Given the description of an element on the screen output the (x, y) to click on. 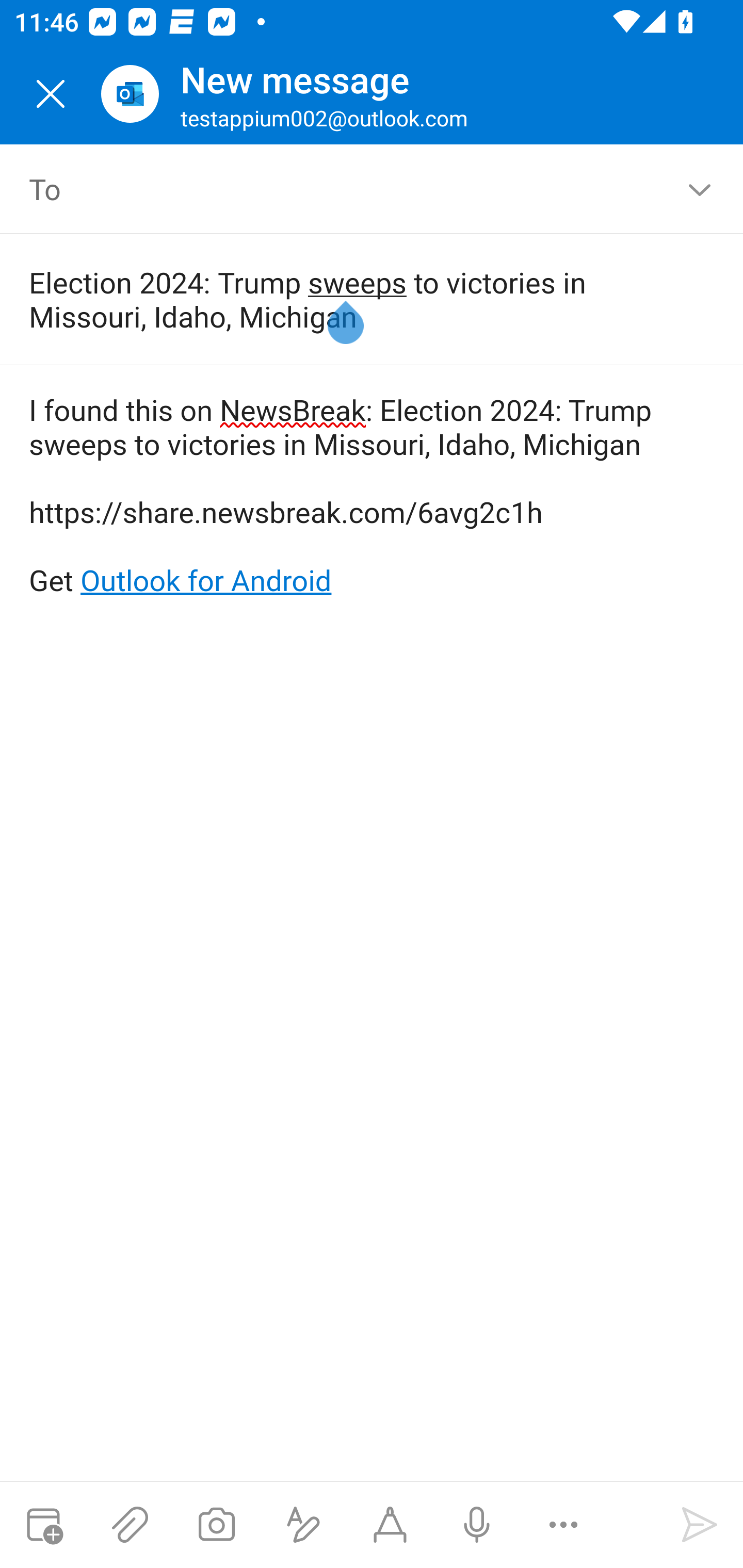
Close (50, 93)
Attach meeting (43, 1524)
Attach files (129, 1524)
Take a photo (216, 1524)
Show formatting options (303, 1524)
Start Ink compose (389, 1524)
Dictation (476, 1524)
More options (563, 1524)
Send (699, 1524)
